Given the description of an element on the screen output the (x, y) to click on. 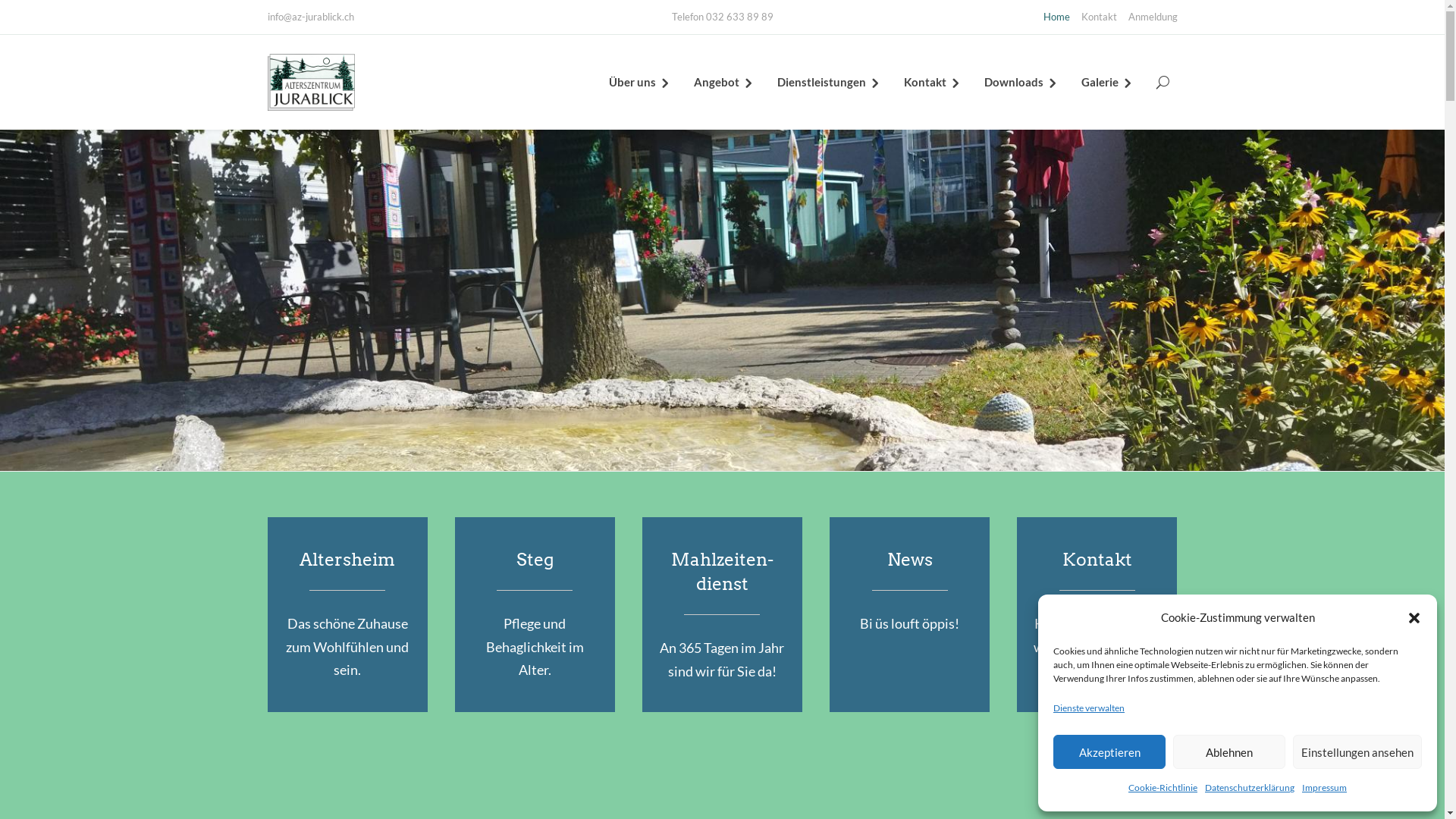
Einstellungen ansehen Element type: text (1356, 751)
Kontakt Element type: text (932, 82)
info@az-jurablick.ch Element type: text (309, 16)
Downloads Element type: text (1021, 82)
Galerie Element type: text (1107, 82)
Impressum Element type: text (1324, 788)
Dienstleistungen Element type: text (828, 82)
Home Element type: text (1056, 16)
Kontakt Element type: text (1099, 16)
Ablehnen Element type: text (1229, 751)
Anmeldung Element type: text (1152, 16)
Akzeptieren Element type: text (1109, 751)
Cookie-Richtlinie Element type: text (1162, 788)
Dienste verwalten Element type: text (1088, 708)
Angebot Element type: text (723, 82)
